Given the description of an element on the screen output the (x, y) to click on. 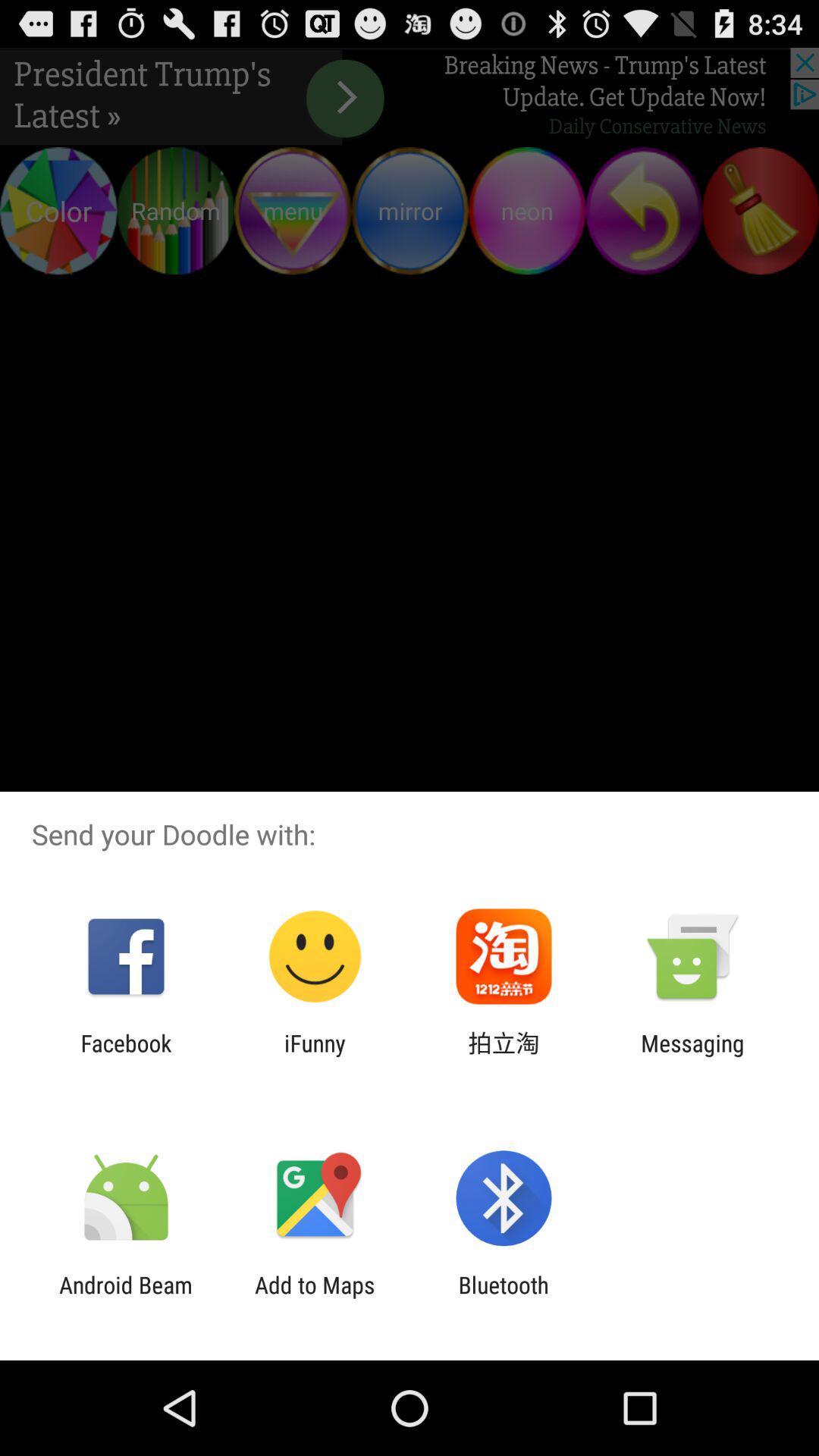
press bluetooth item (503, 1298)
